Given the description of an element on the screen output the (x, y) to click on. 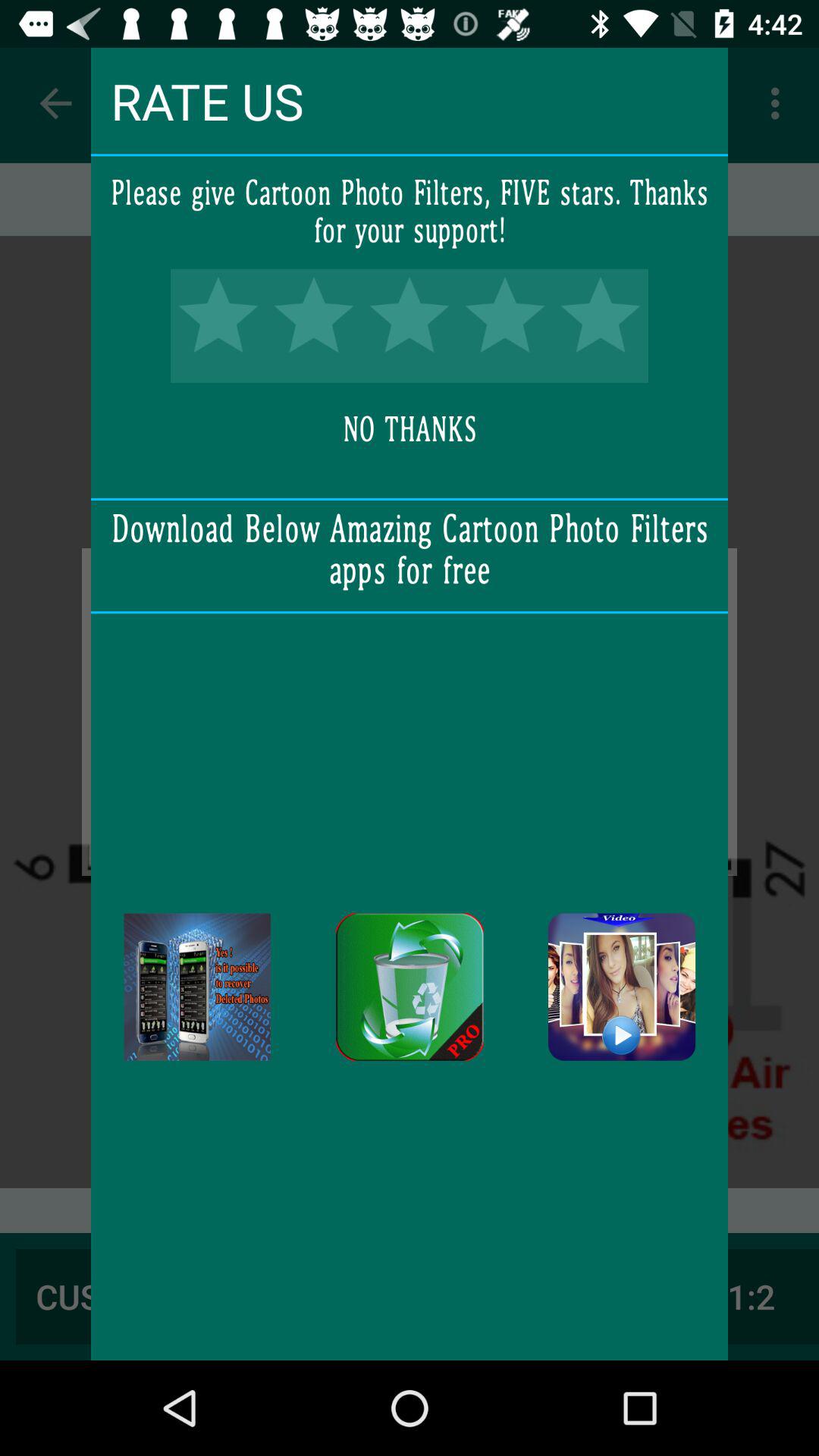
select this app to download (621, 986)
